Given the description of an element on the screen output the (x, y) to click on. 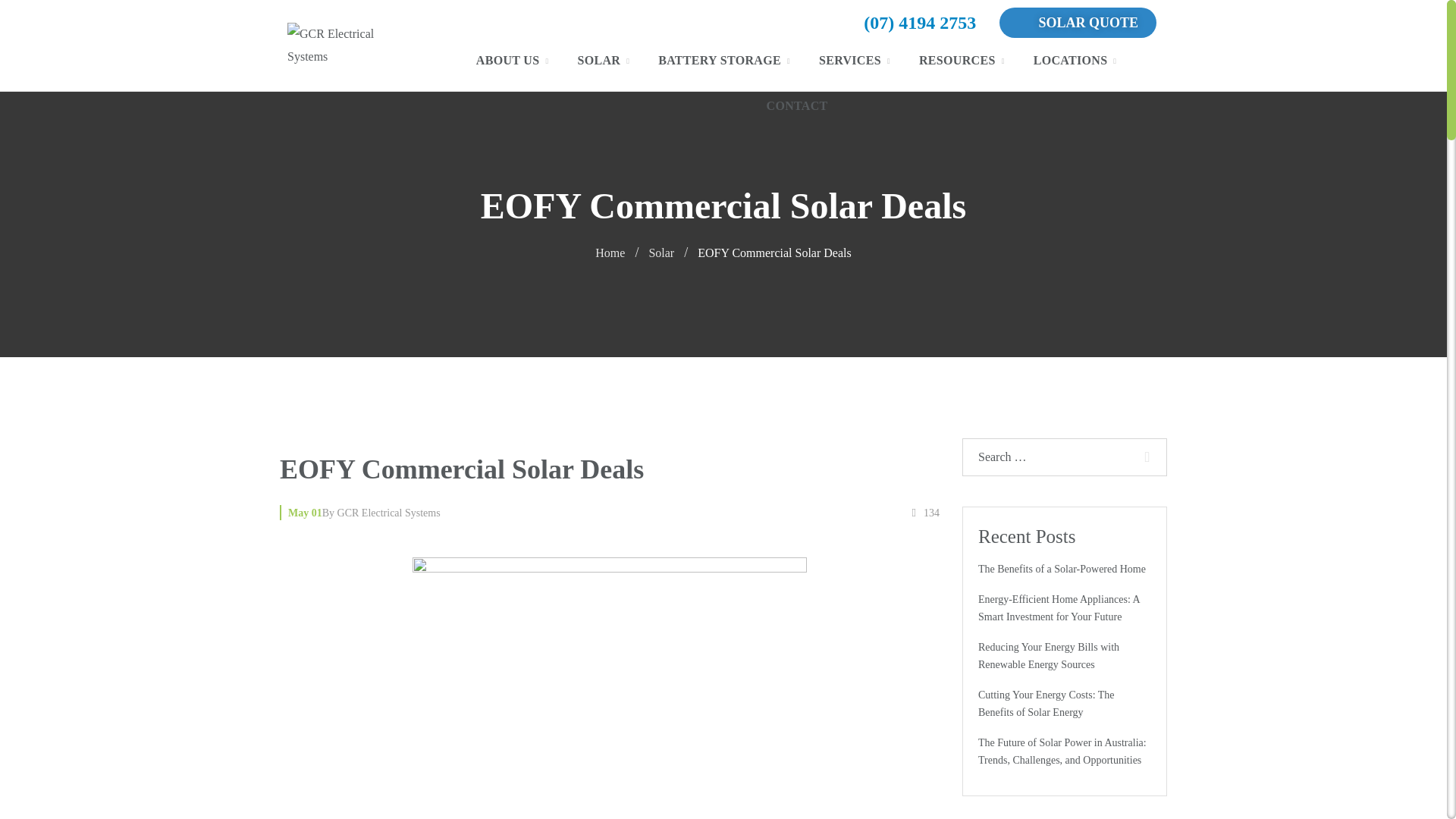
RESOURCES (962, 60)
SERVICES (855, 60)
LOCATIONS (1076, 60)
SOLAR (604, 60)
Like (925, 512)
ABOUT US (513, 60)
SOLAR QUOTE (1077, 22)
BATTERY STORAGE (725, 60)
